Given the description of an element on the screen output the (x, y) to click on. 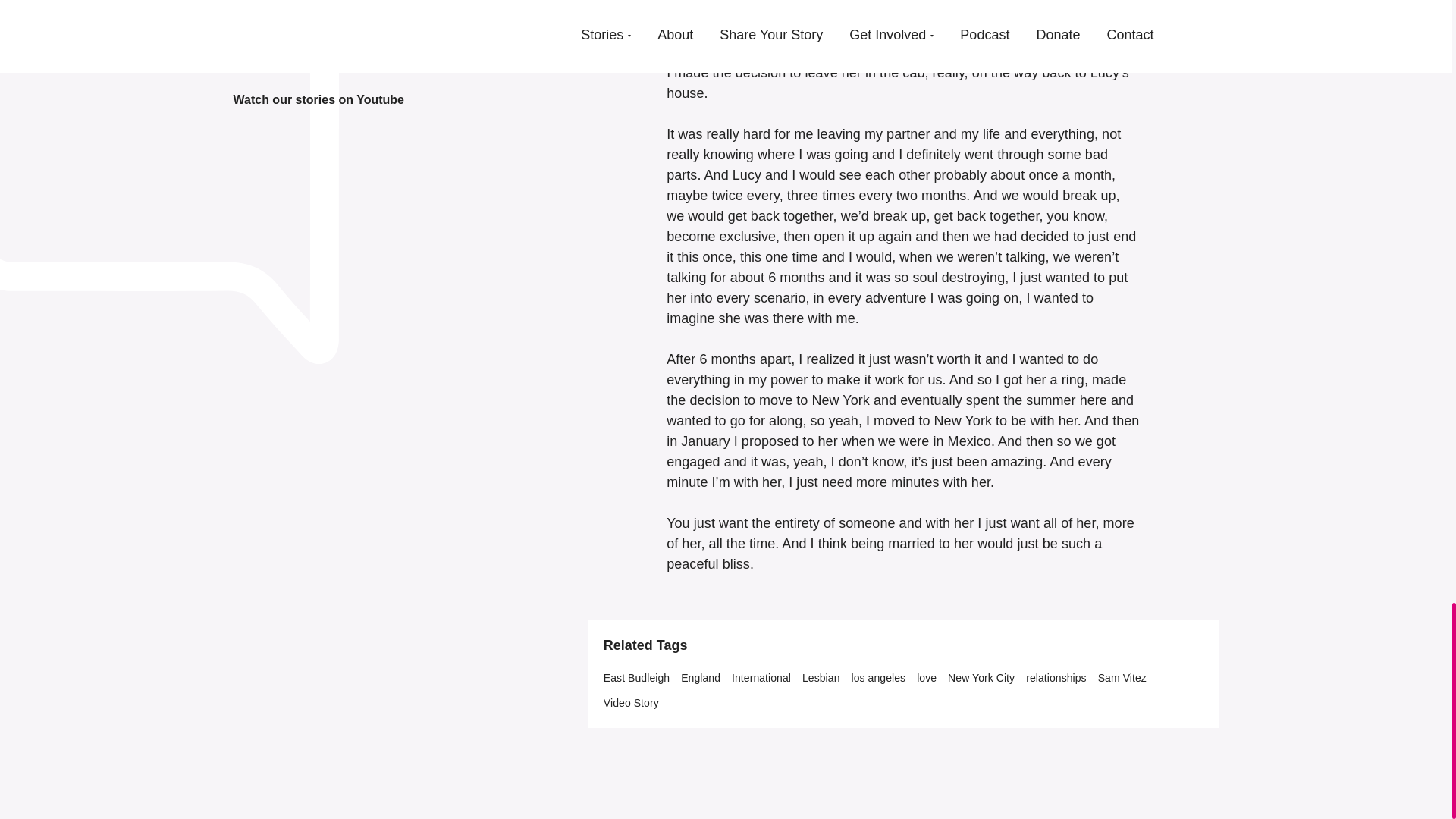
love (926, 678)
International (761, 678)
New York City (980, 678)
England (700, 678)
Lesbian (821, 678)
los angeles (878, 678)
Sam Vitez (1122, 678)
East Budleigh (636, 678)
Video Story (631, 703)
